Given the description of an element on the screen output the (x, y) to click on. 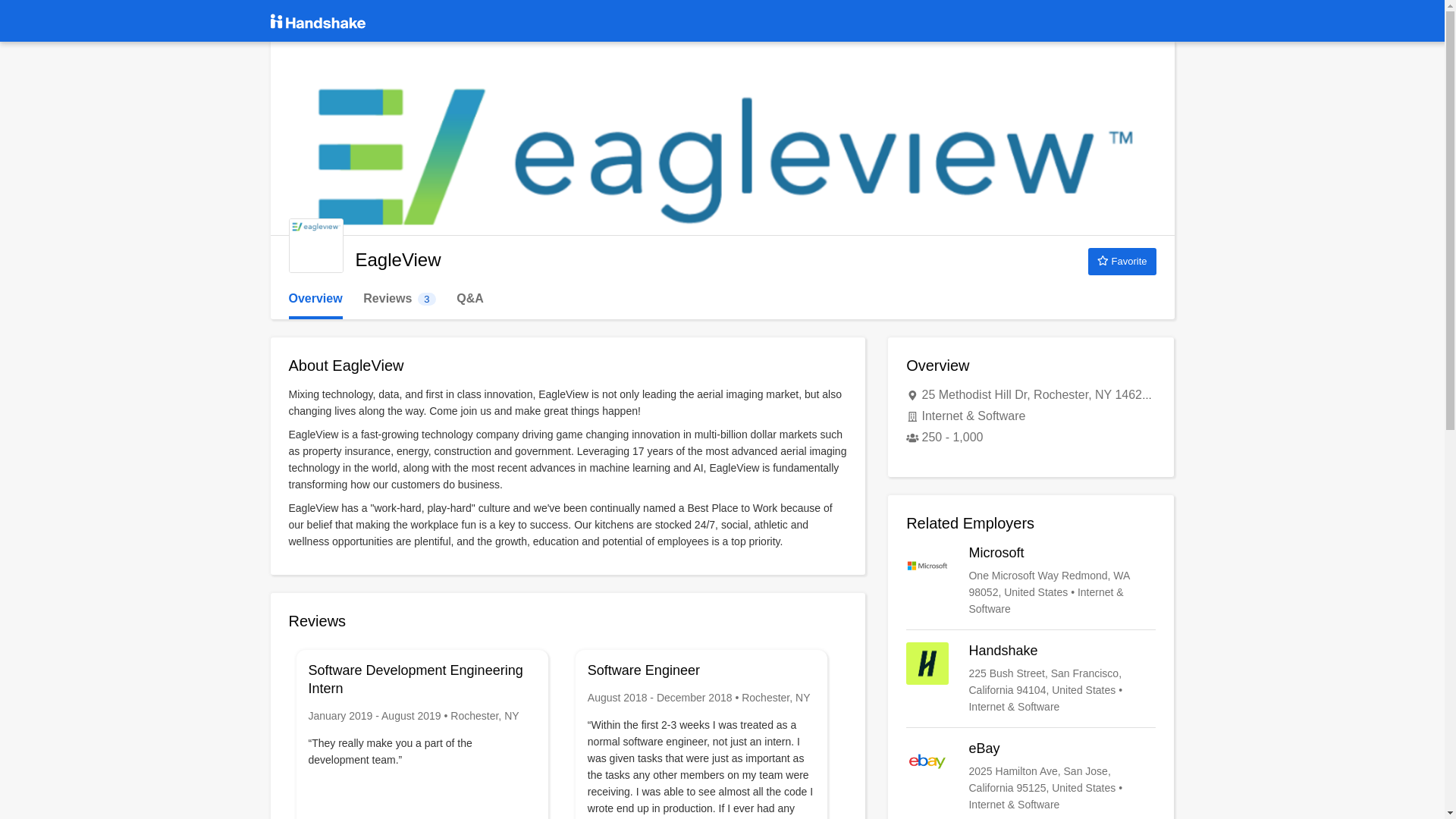
eBay (398, 298)
Favorite (1030, 776)
Overview (1121, 261)
Handshake (315, 298)
Microsoft (1030, 678)
EagleView (1030, 580)
